Given the description of an element on the screen output the (x, y) to click on. 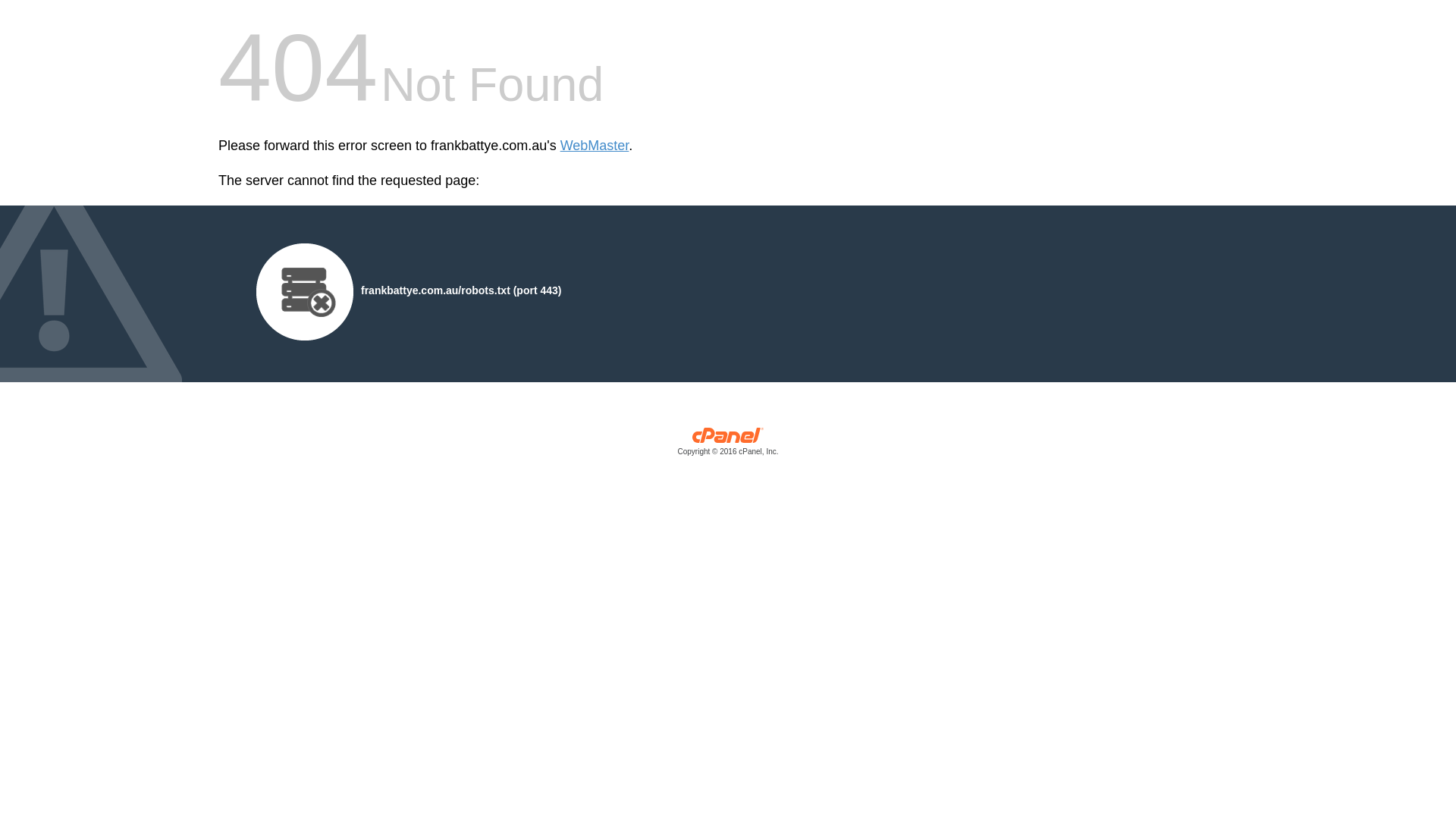
WebMaster Element type: text (594, 145)
